Given the description of an element on the screen output the (x, y) to click on. 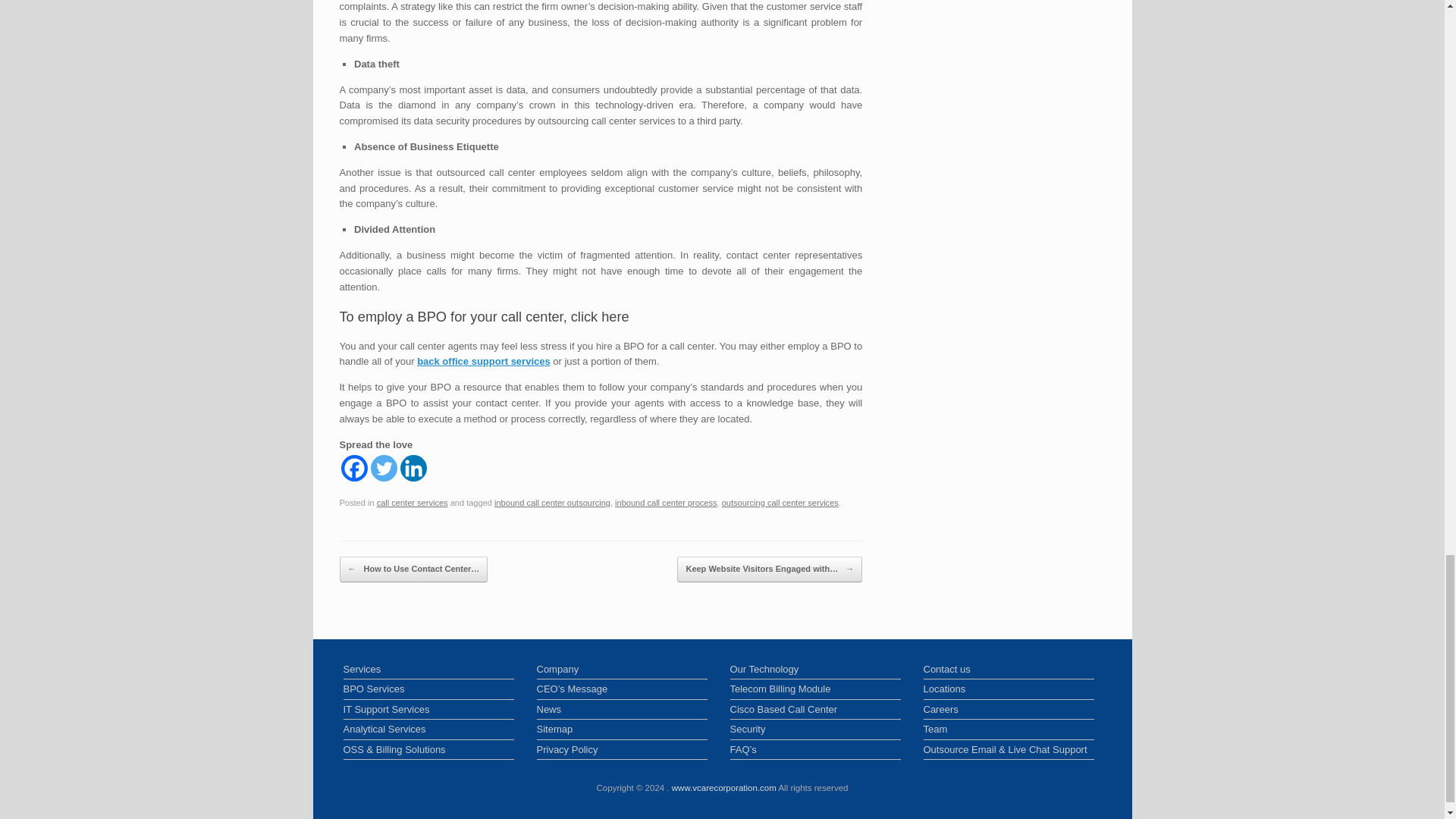
Linkedin (413, 468)
Twitter (382, 468)
Facebook (354, 468)
